Given the description of an element on the screen output the (x, y) to click on. 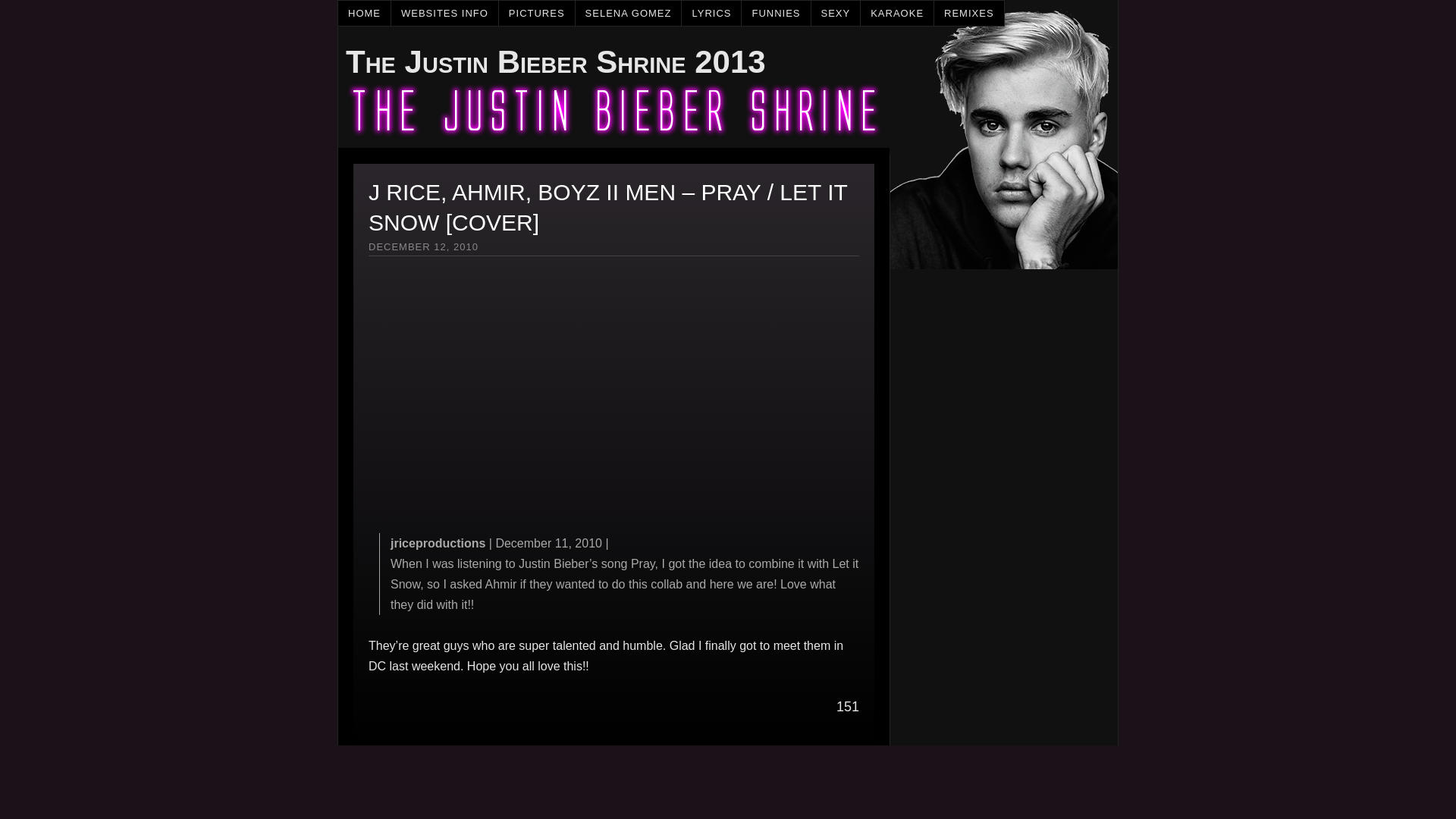
YouTube video player (580, 402)
2010-12-12 (423, 246)
REMIXES (969, 13)
FUNNIES (775, 13)
SELENA GOMEZ (628, 13)
WEBSITES INFO (445, 13)
HOME (364, 13)
SEXY (835, 13)
PICTURES (537, 13)
151 (847, 706)
